Given the description of an element on the screen output the (x, y) to click on. 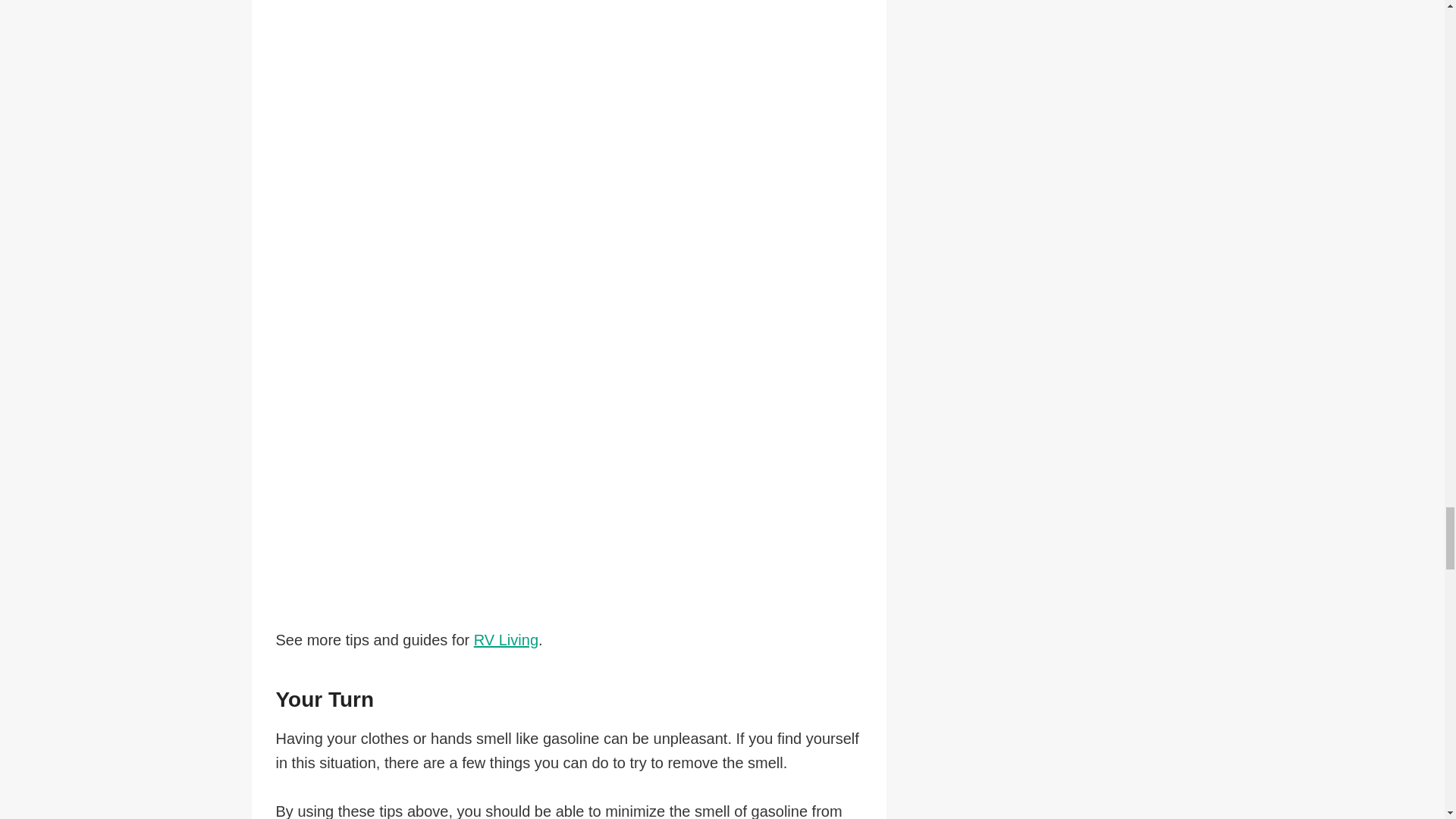
RV Living (506, 639)
